Given the description of an element on the screen output the (x, y) to click on. 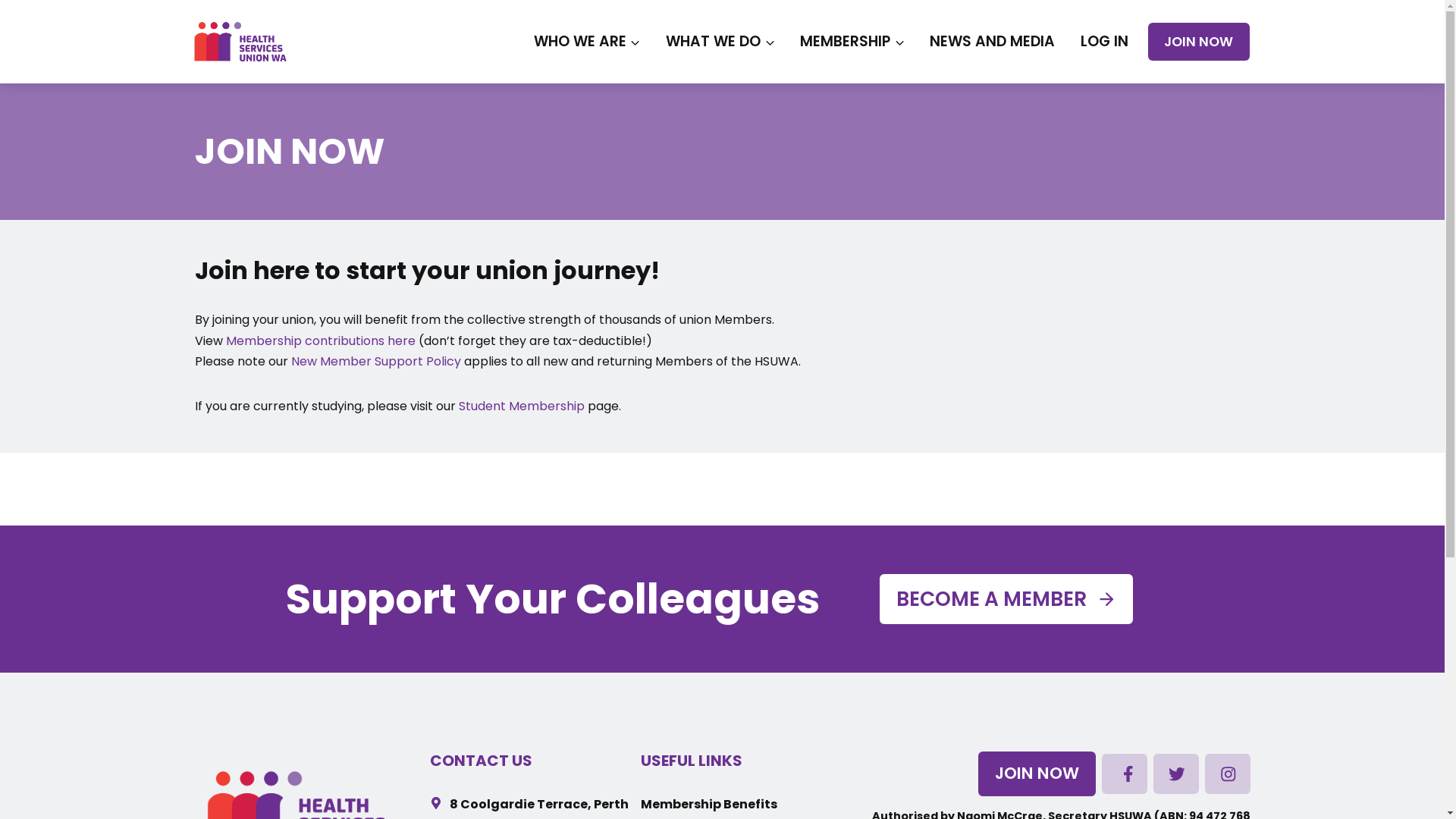
Student Membership Element type: text (520, 405)
CONTACT US Element type: text (480, 760)
MEMBERSHIP Element type: text (852, 41)
NEWS AND MEDIA Element type: text (992, 41)
WHO WE ARE Element type: text (586, 41)
New Member Support Policy Element type: text (376, 361)
LOG IN Element type: text (1103, 41)
JOIN NOW Element type: text (1036, 773)
Membership Benefits Element type: text (708, 803)
WHAT WE DO Element type: text (719, 41)
BECOME A MEMBER Element type: text (1006, 599)
JOIN NOW Element type: text (1198, 40)
Membership contributions here Element type: text (320, 340)
